Given the description of an element on the screen output the (x, y) to click on. 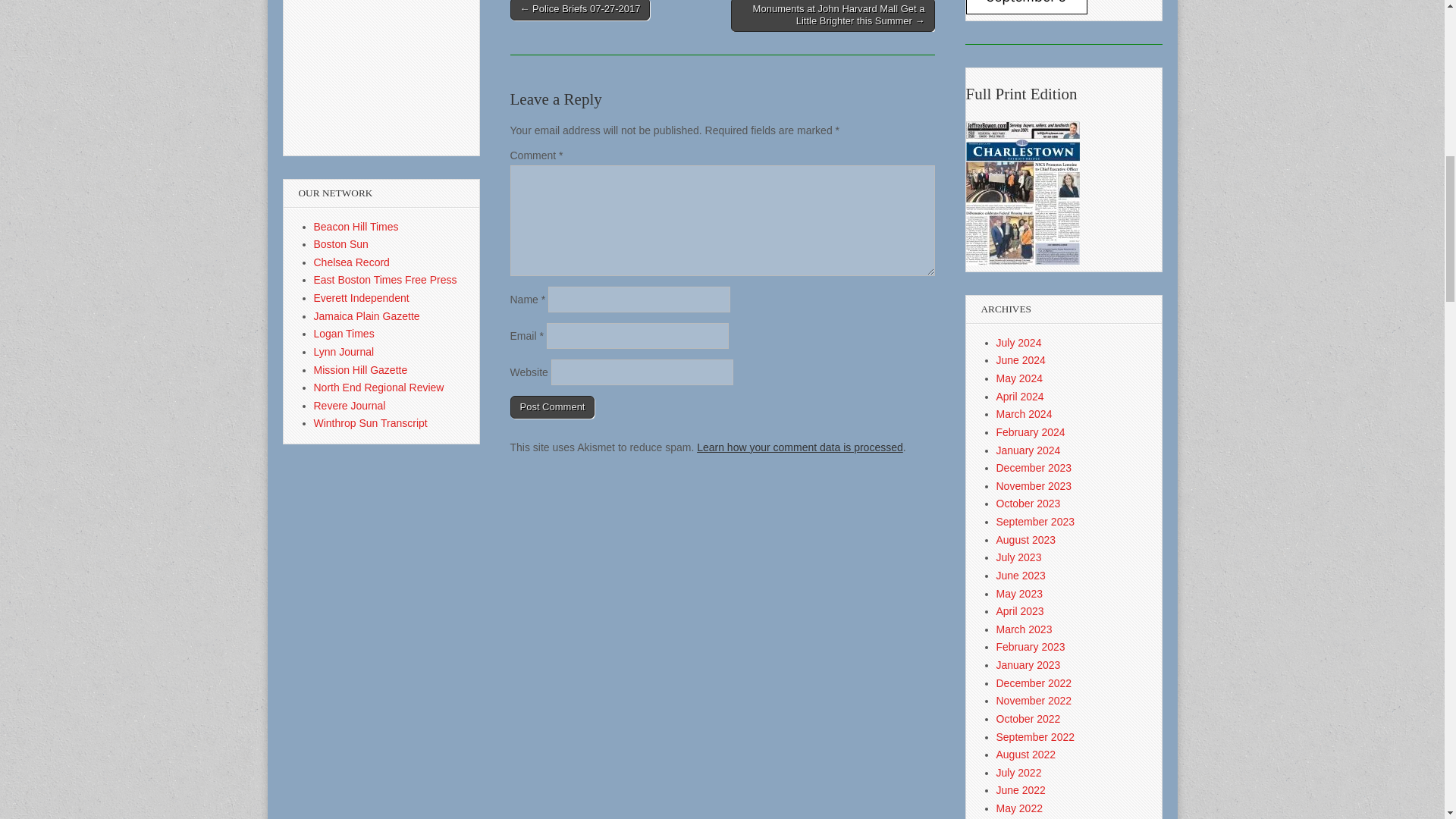
Mission Hill Gazette (360, 369)
Logan Times (344, 333)
Revere Journal (349, 405)
Jamaica Plain Gazette (367, 316)
Chelsea Record (352, 262)
Boston Sun (341, 244)
North End Regional Review (379, 387)
Post Comment (551, 406)
East Boston Times Free Press (385, 279)
Beacon Hill Times (356, 226)
Learn how your comment data is processed (799, 447)
Winthrop Sun Transcript (371, 422)
Lynn Journal (344, 351)
Post Comment (551, 406)
Everett Independent (361, 297)
